Given the description of an element on the screen output the (x, y) to click on. 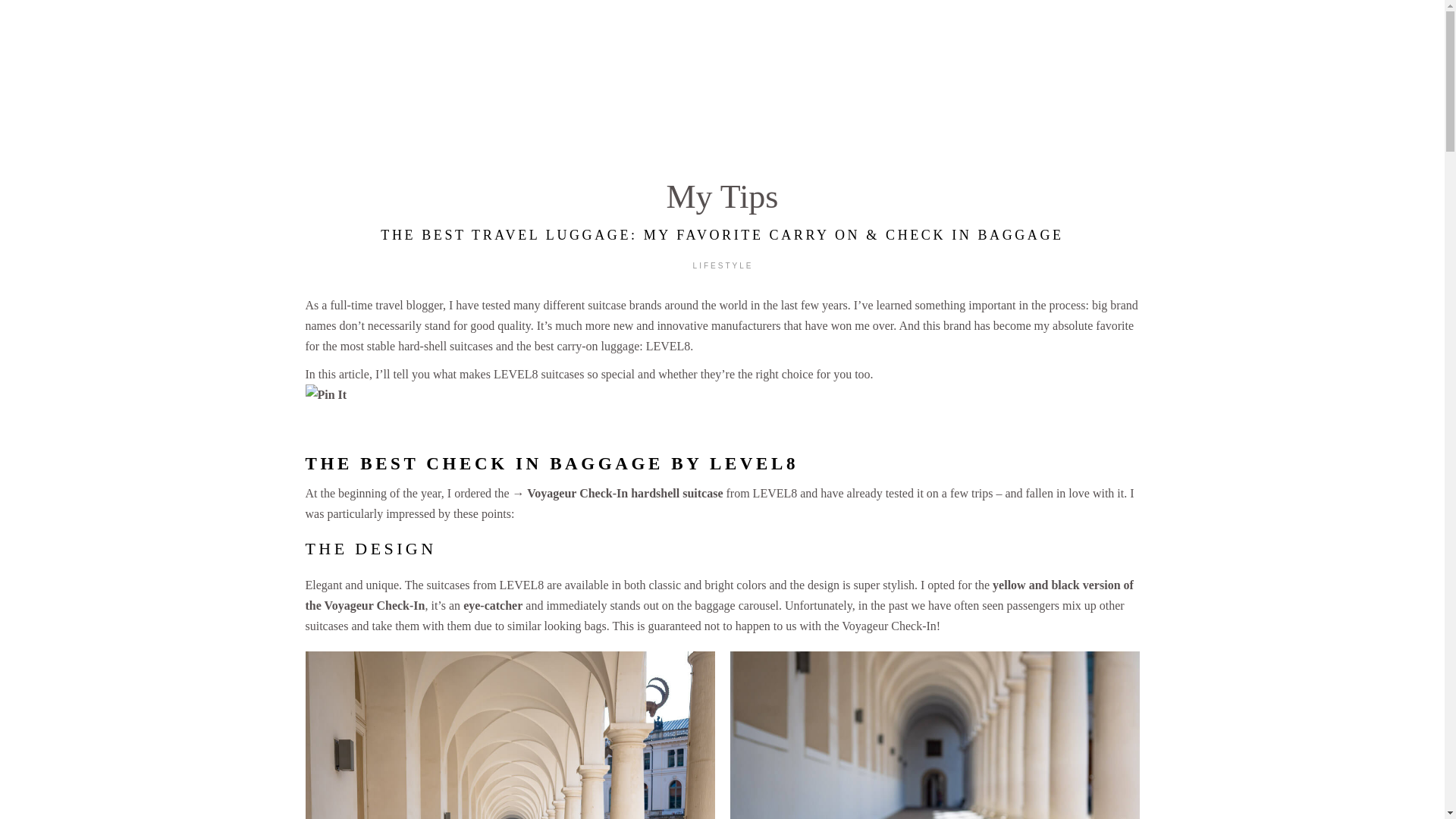
My Tips (721, 196)
LIFESTYLE (723, 265)
Pin It (325, 394)
